Given the description of an element on the screen output the (x, y) to click on. 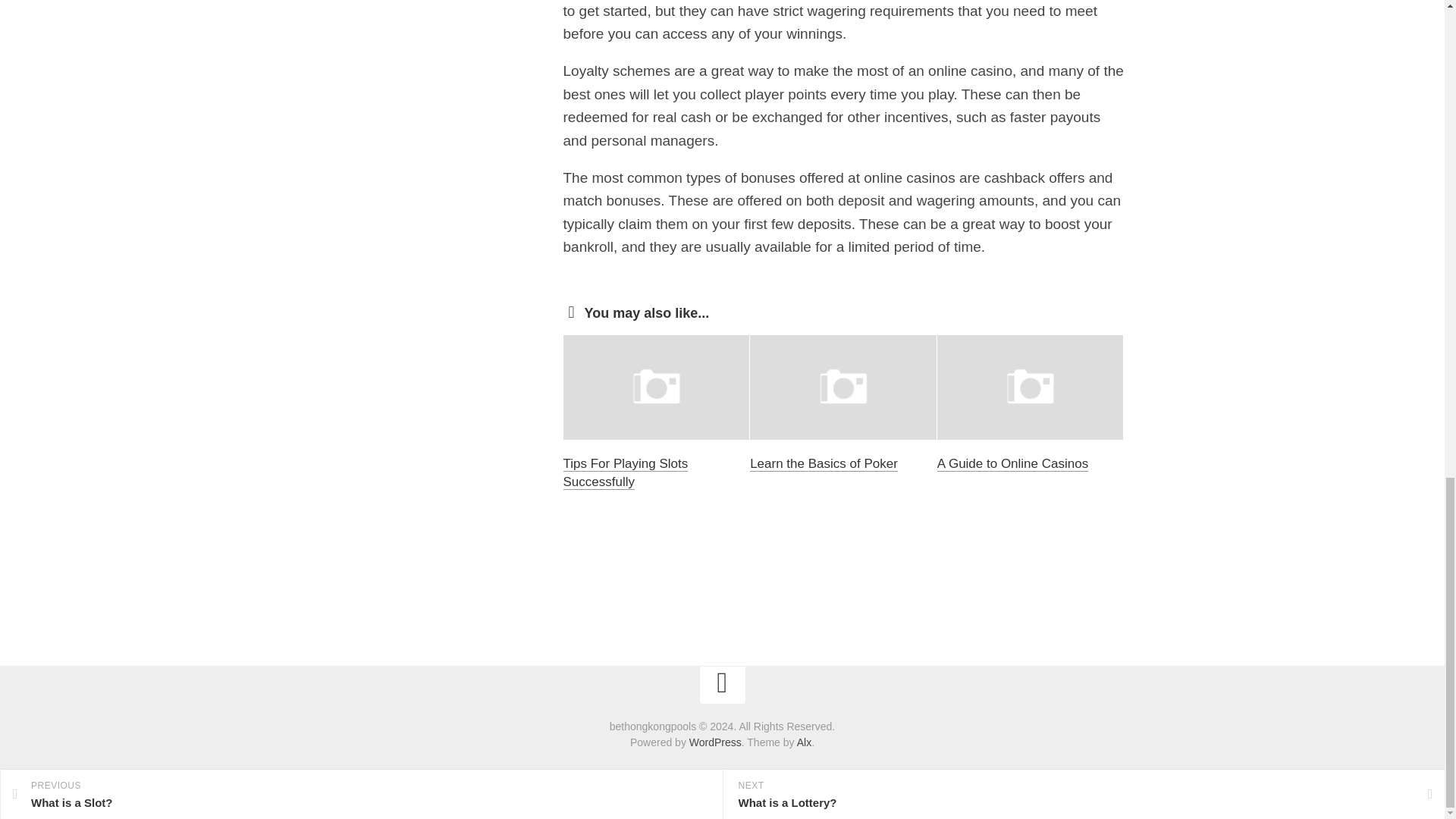
WordPress (714, 742)
Alx (803, 742)
Tips For Playing Slots Successfully (624, 472)
A Guide to Online Casinos (1012, 463)
Learn the Basics of Poker (823, 463)
